Given the description of an element on the screen output the (x, y) to click on. 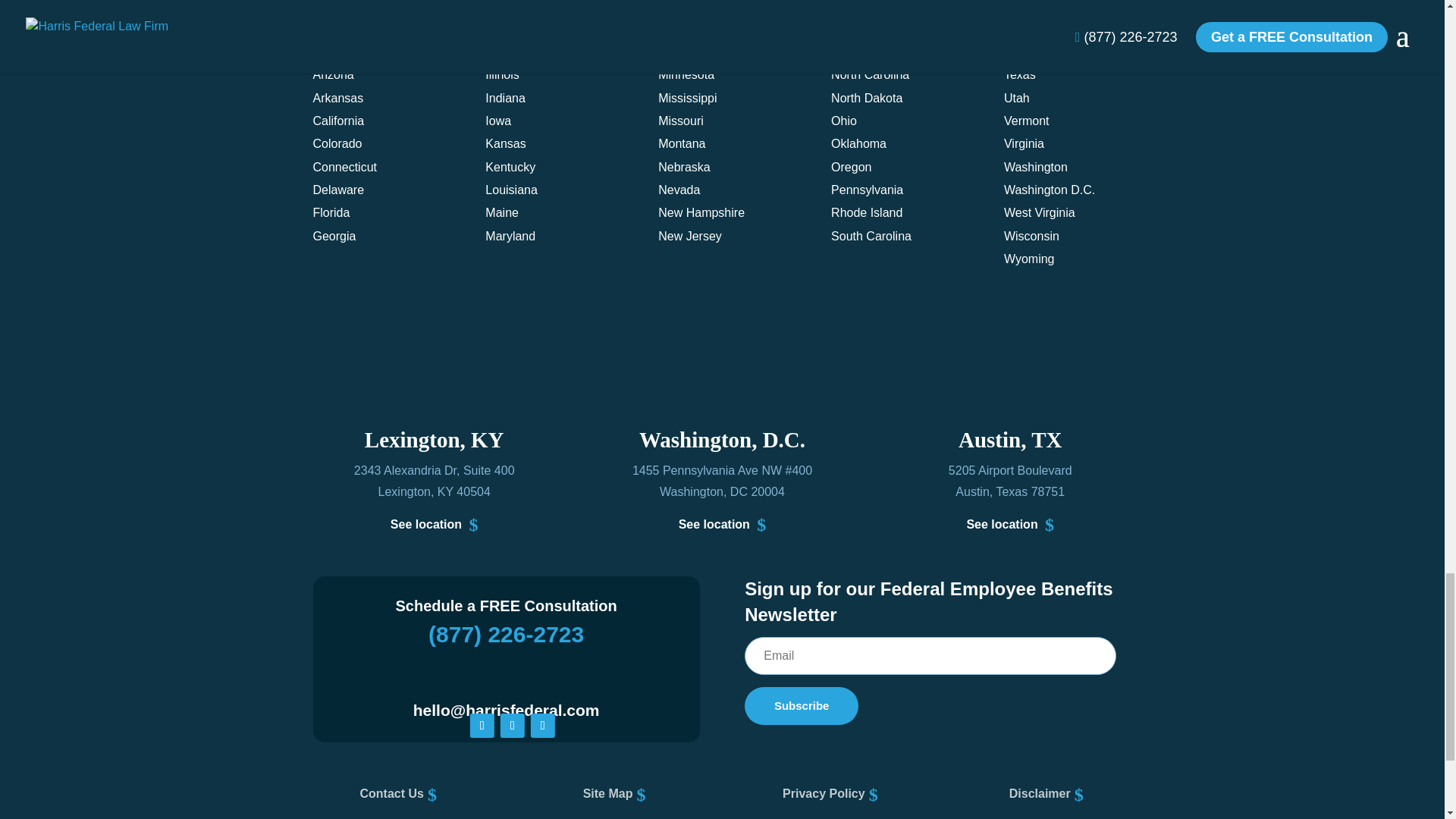
Colorado (337, 143)
Alabama (336, 28)
Arizona (333, 74)
Alaska (331, 51)
Subscribe (801, 705)
California (338, 120)
Arkansas (337, 97)
